Given the description of an element on the screen output the (x, y) to click on. 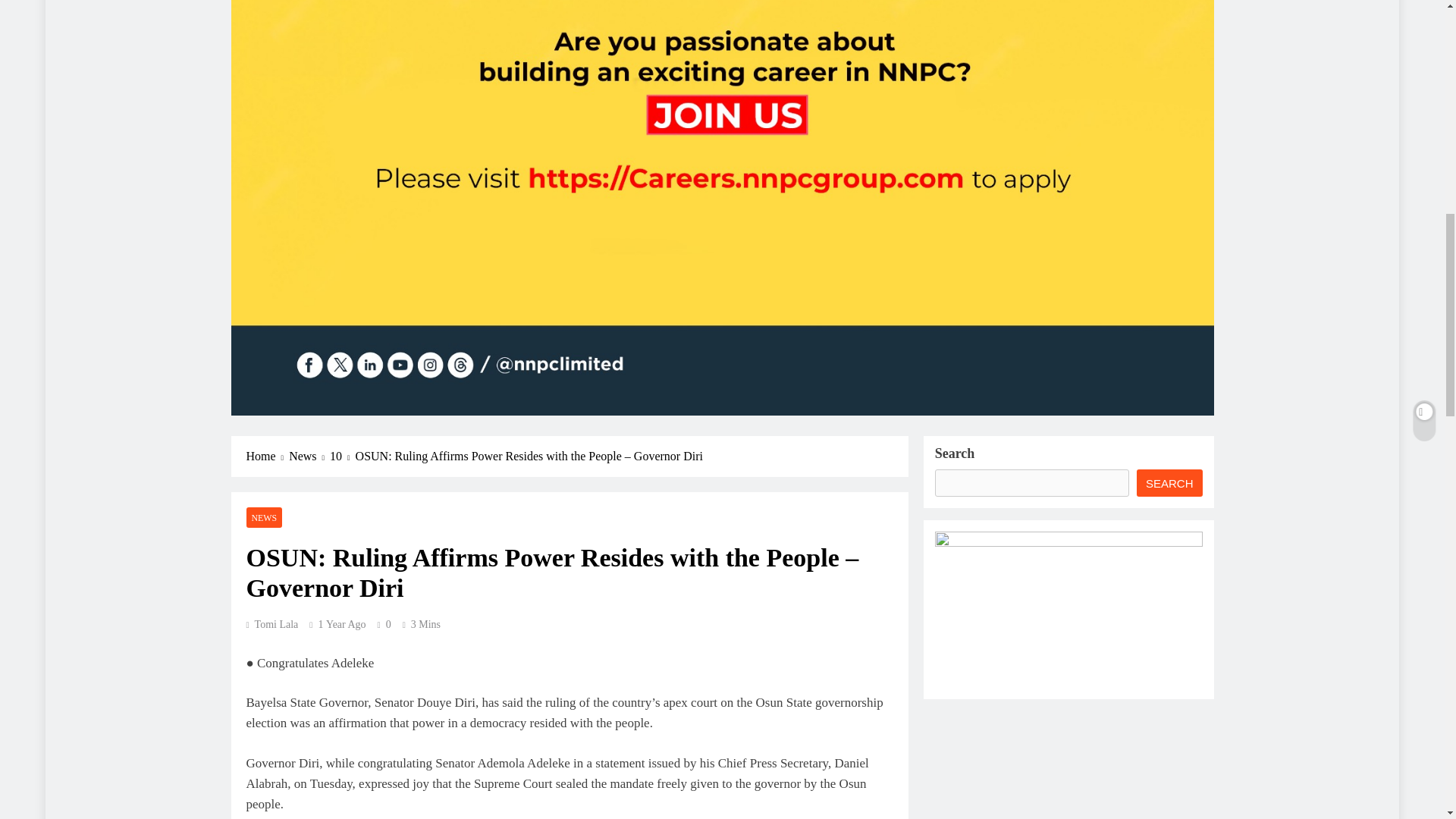
Tomi Lala (272, 624)
10 (342, 456)
News (309, 456)
NEWS (264, 516)
Home (267, 456)
1 Year Ago (341, 624)
